Given the description of an element on the screen output the (x, y) to click on. 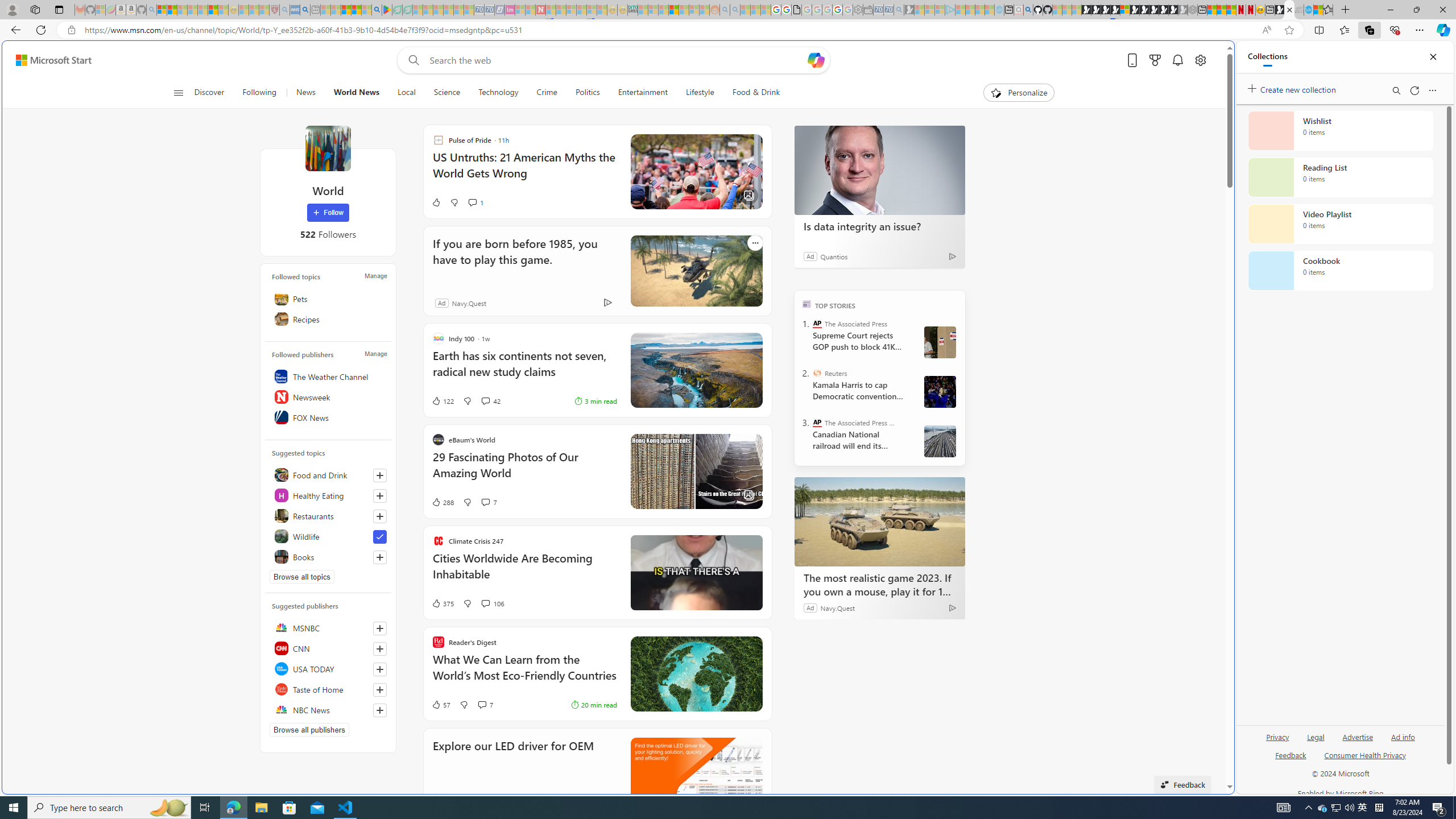
Restaurants (327, 515)
Follow this source (379, 710)
MSNBC (327, 627)
